Given the description of an element on the screen output the (x, y) to click on. 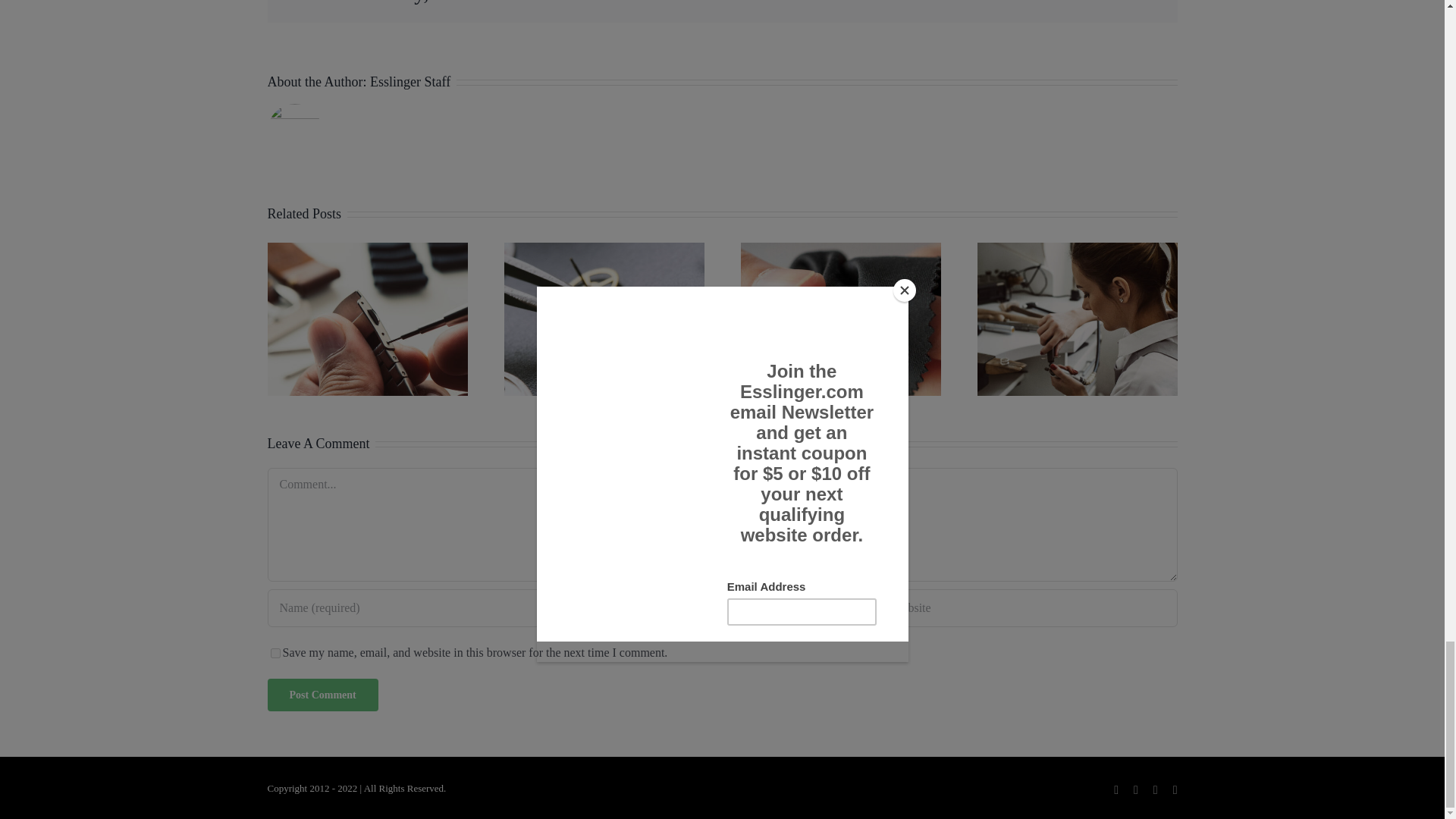
Post Comment (321, 694)
Posts by Esslinger Staff (409, 81)
yes (274, 653)
